Given the description of an element on the screen output the (x, y) to click on. 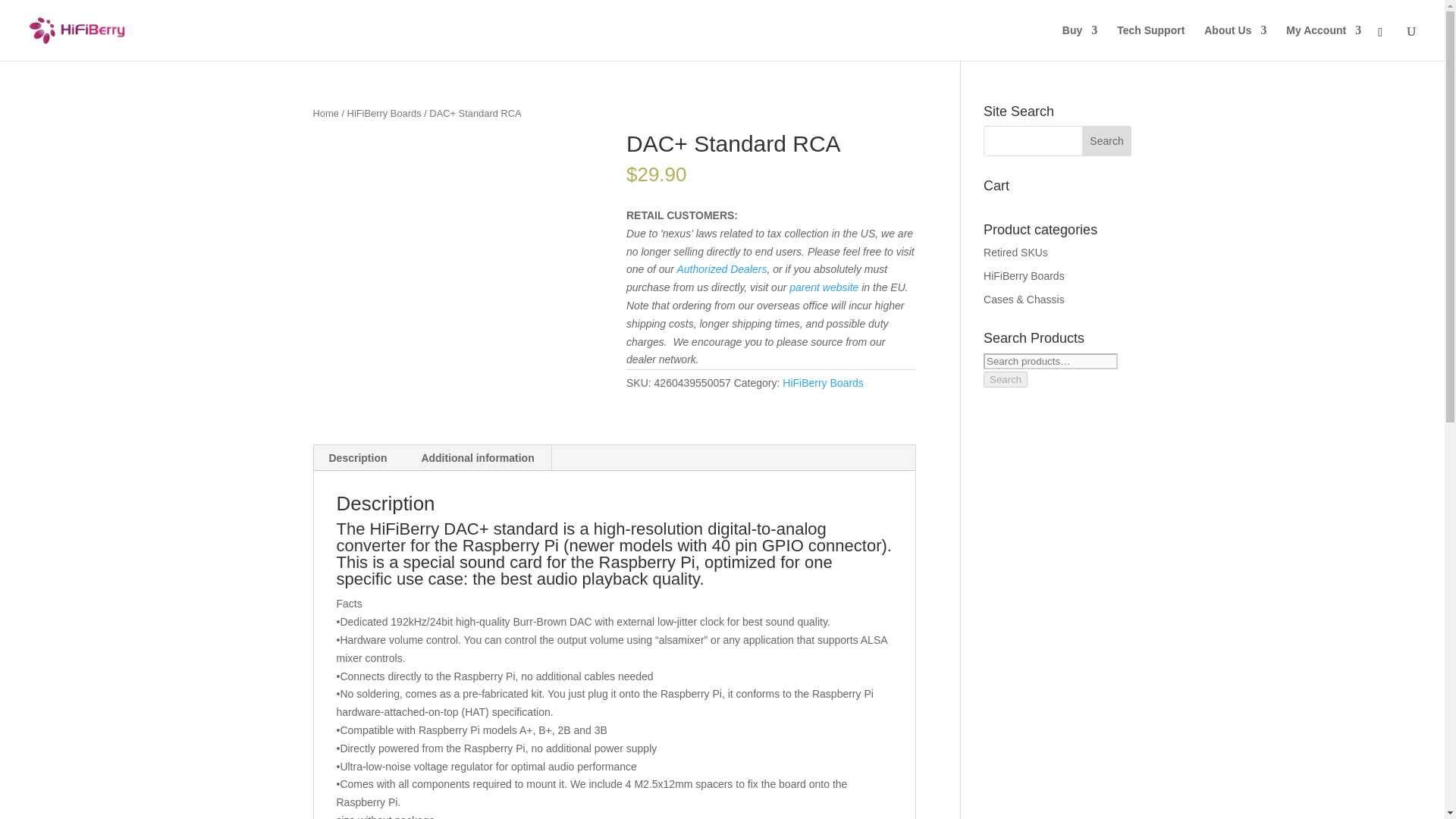
HiFiBerry Boards (823, 382)
Buy (1079, 42)
Search (1106, 141)
My Account (1323, 42)
Tech Support (1150, 42)
Home (325, 112)
About Us (1235, 42)
Search (1005, 379)
Retired SKUs (1016, 252)
HiFiBerry Boards (384, 112)
Description (358, 457)
parent website (824, 287)
HiFiBerry Boards (1024, 275)
Additional information (477, 457)
Search (1106, 141)
